Given the description of an element on the screen output the (x, y) to click on. 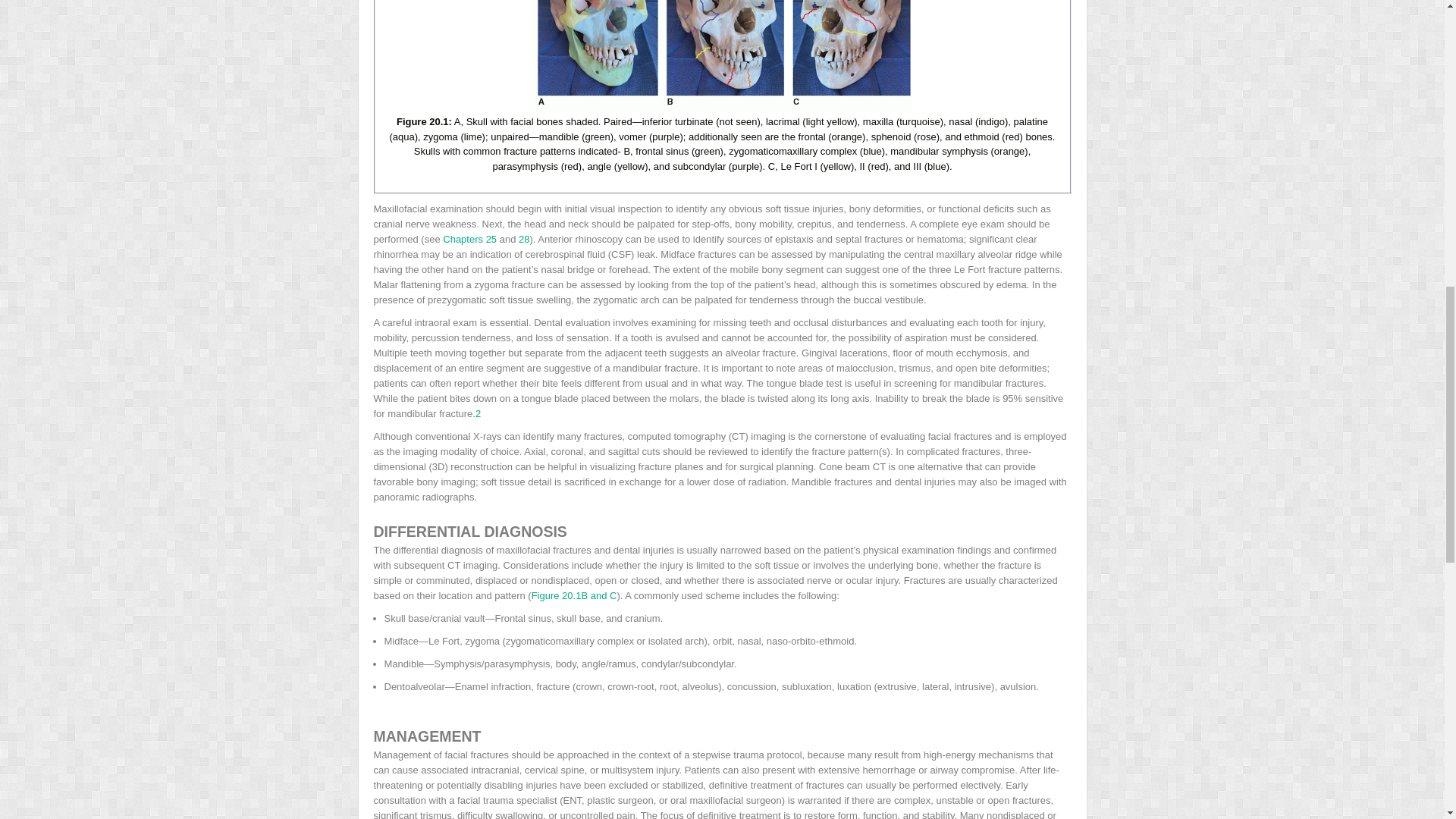
Chapters 25 (469, 238)
Figure 20.1B and C (574, 595)
28 (523, 238)
